Given the description of an element on the screen output the (x, y) to click on. 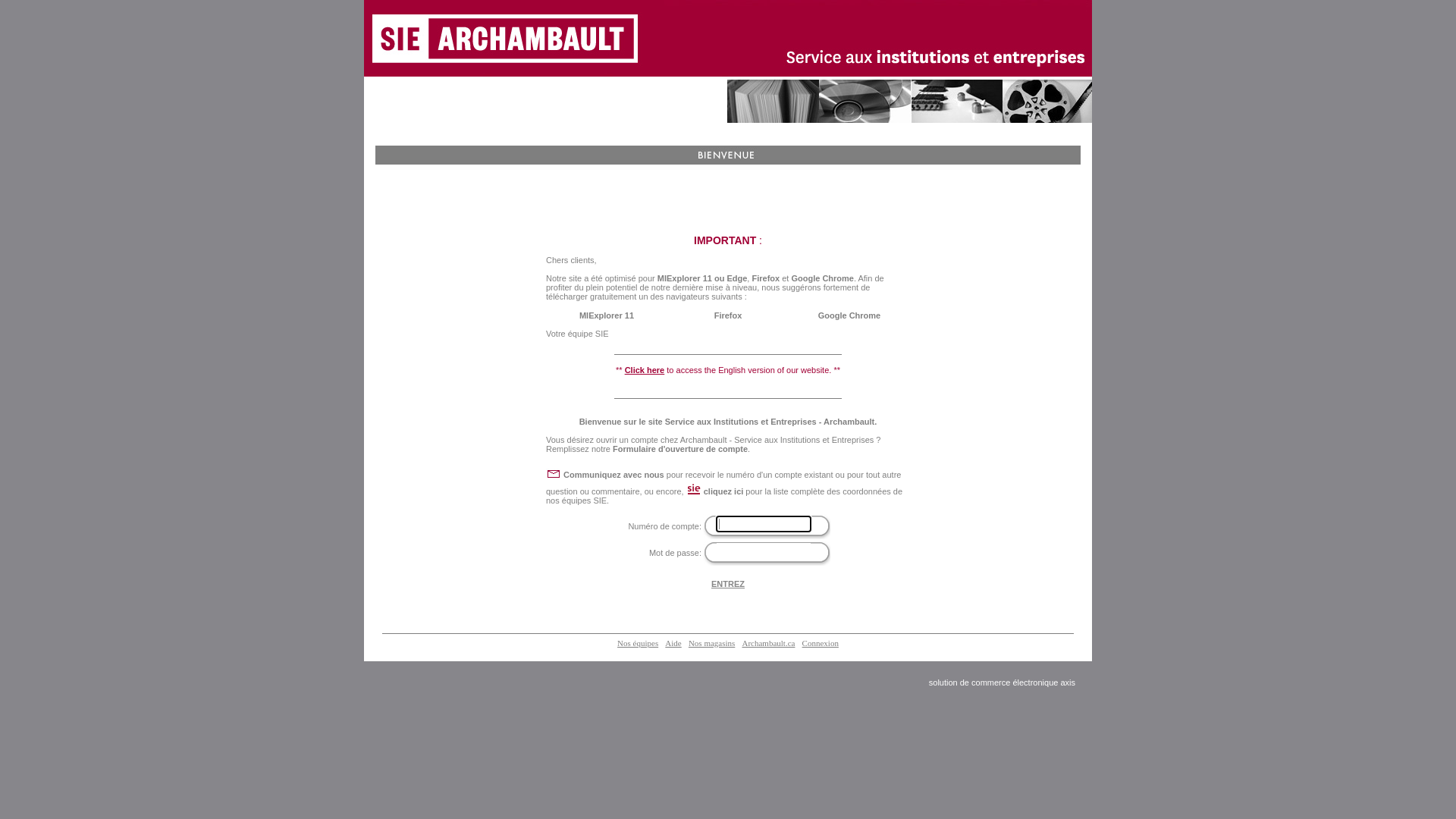
Click here Element type: text (644, 369)
Connexion Element type: text (820, 642)
MIExplorer 11 Element type: text (606, 315)
Google Chrome Element type: text (849, 315)
Communiquez avec nous Element type: text (613, 474)
Service aux institutions et entreprises Element type: hover (728, 39)
Firefox Element type: text (728, 315)
Nos magasins Element type: text (711, 642)
Aide Element type: text (672, 642)
Formulaire d'ouverture de compte Element type: text (679, 448)
Service aux institutions et entreprises Element type: hover (728, 39)
cliquez ici Element type: text (723, 490)
Archambault.ca Element type: text (767, 642)
Entrez Element type: text (727, 583)
